Given the description of an element on the screen output the (x, y) to click on. 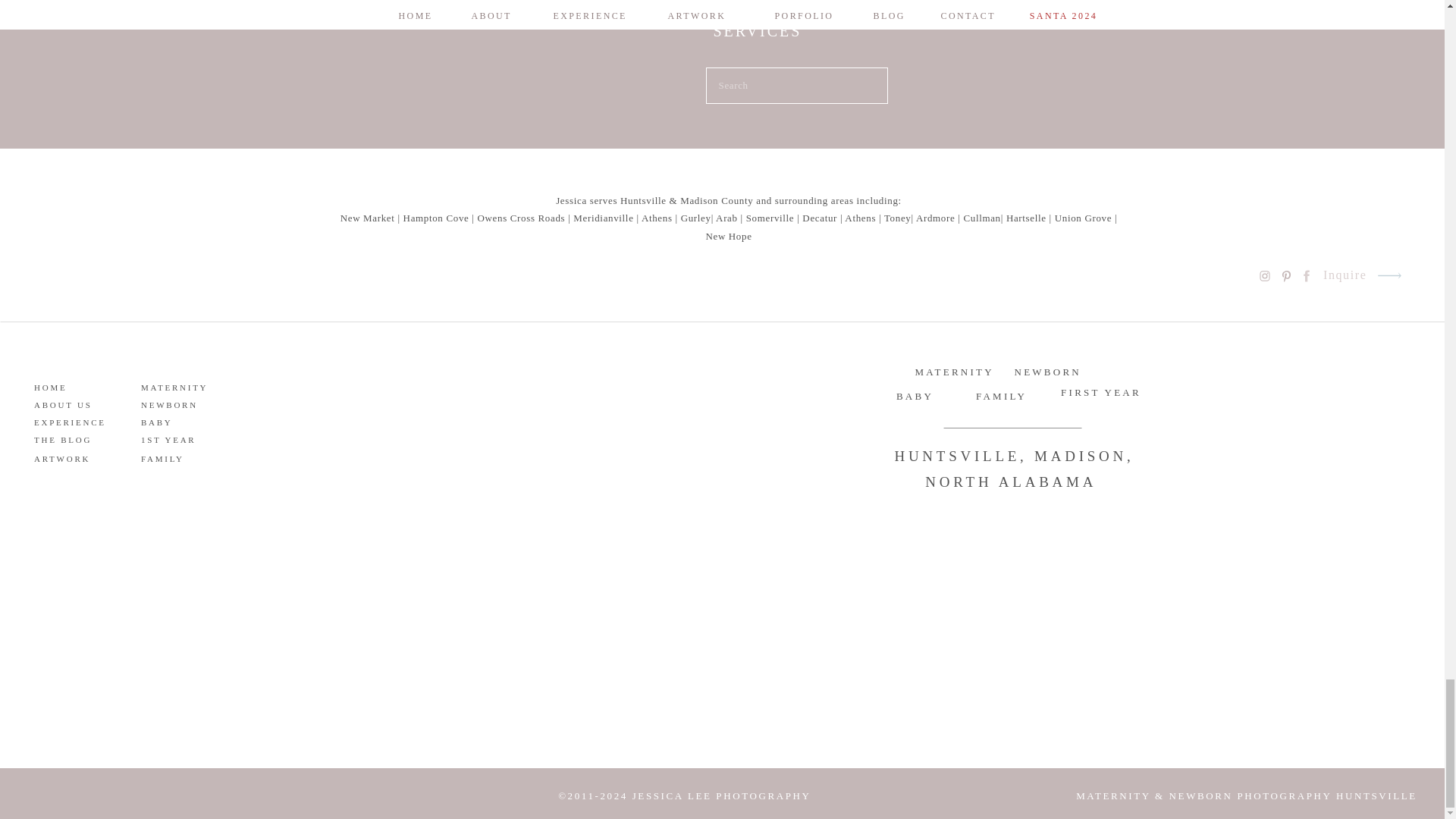
arrow (1389, 275)
